Given the description of an element on the screen output the (x, y) to click on. 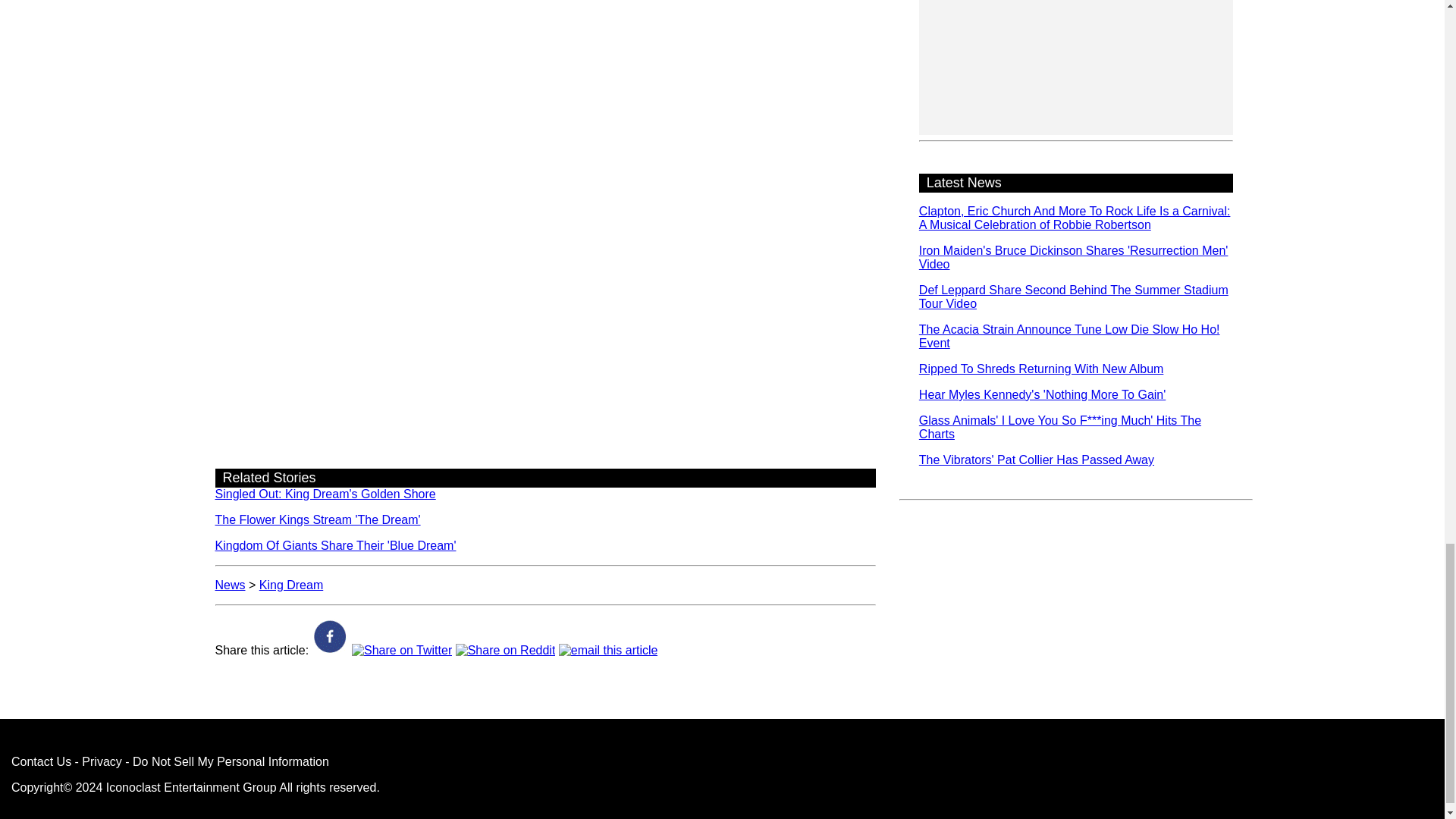
News (230, 584)
Hear Myles Kennedy's 'Nothing More To Gain' (1042, 394)
The Vibrators' Pat Collier Has Passed Away (1036, 459)
Share on Reddit (505, 649)
King Dream (291, 584)
Tweet (401, 649)
Share on Facebook (331, 649)
Iconoclast Entertainment Group (191, 787)
Send email (608, 649)
The Flower Kings Stream 'The Dream' (317, 519)
Singled Out: King Dream's Golden Shore (325, 493)
The Acacia Strain Announce Tune Low Die Slow Ho Ho! Event (1069, 335)
